Given the description of an element on the screen output the (x, y) to click on. 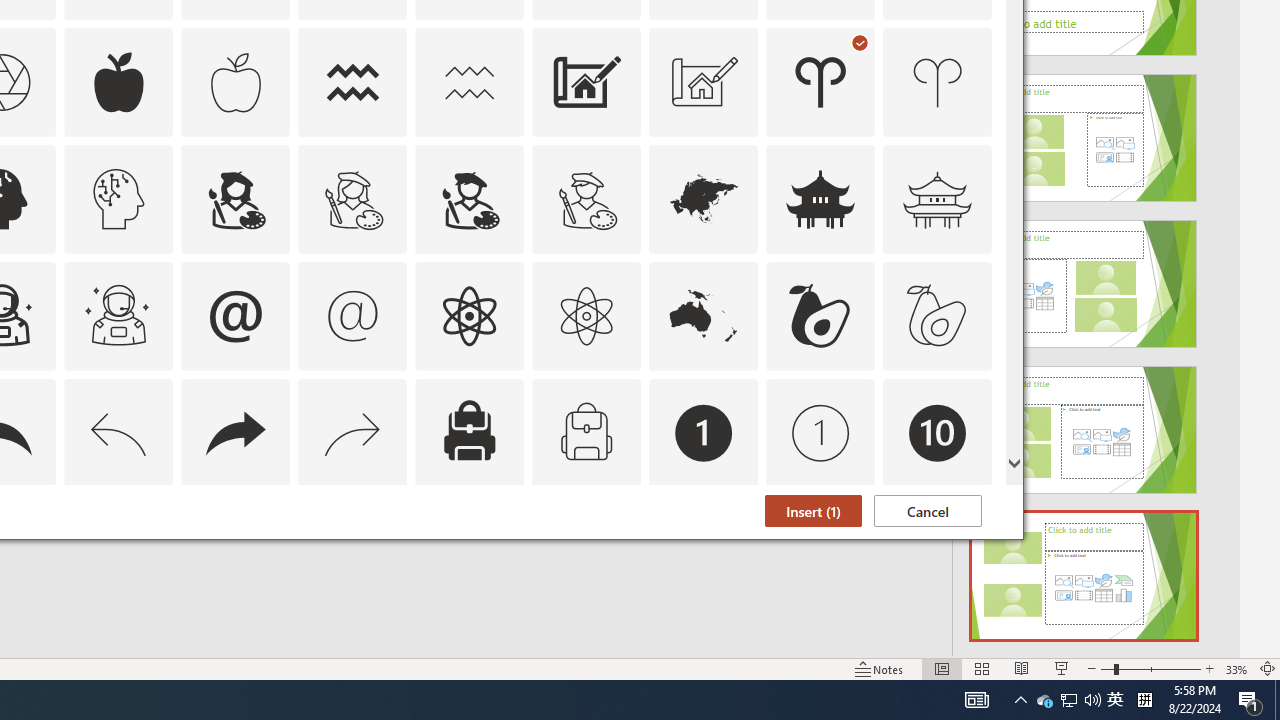
AutomationID: Icons_AsianTemple (820, 198)
AutomationID: Icons_Australia (703, 316)
AutomationID: Icons_Apple_M (235, 82)
AutomationID: Icons_Badge10 (938, 432)
AutomationID: Icons_Back_LTR_M (118, 432)
Insert (1) (813, 511)
AutomationID: Icons_ArtistFemale (235, 198)
AutomationID: Icons_Badge9_M (938, 550)
